Given the description of an element on the screen output the (x, y) to click on. 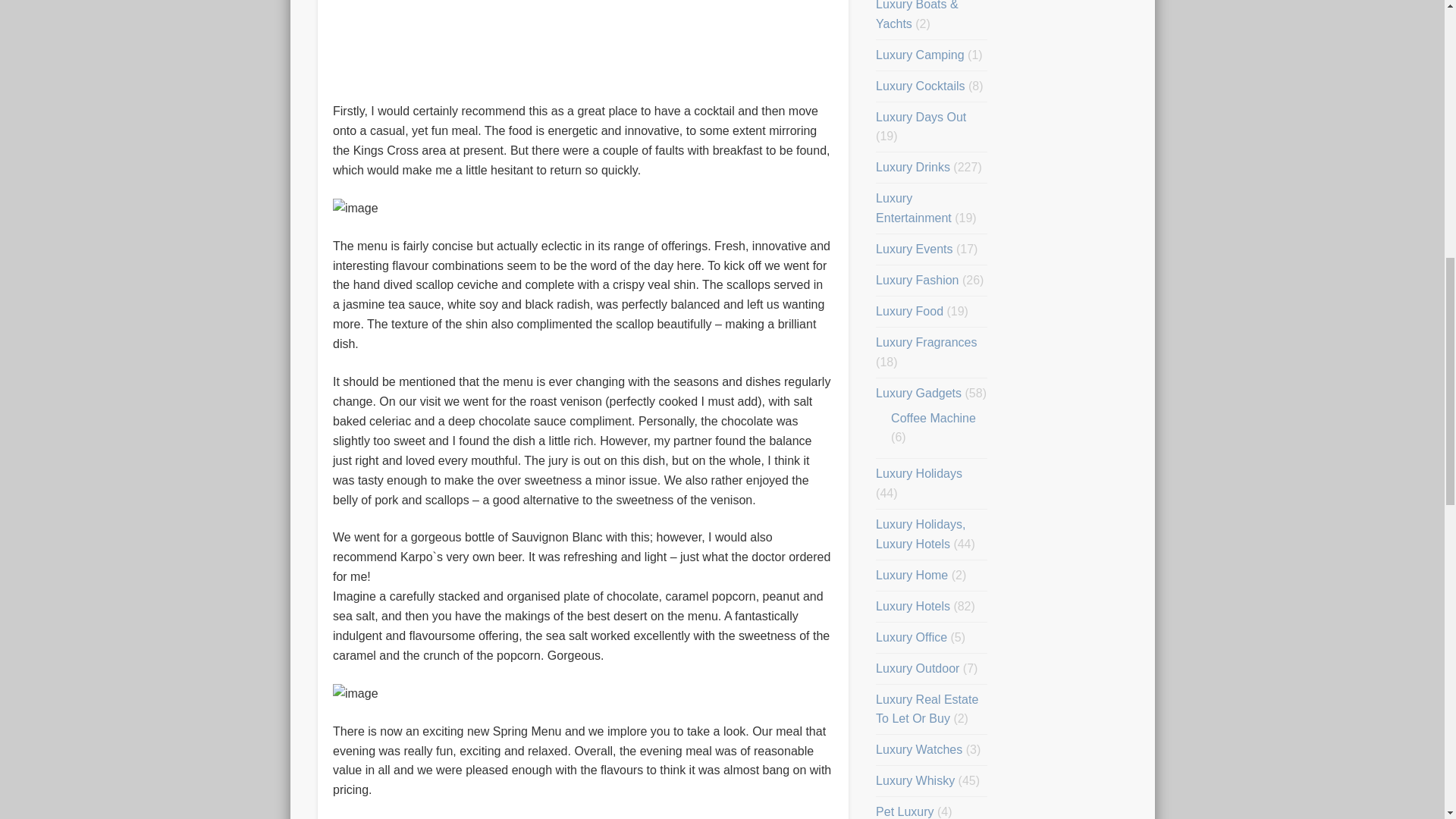
Advertisement (582, 41)
